Given the description of an element on the screen output the (x, y) to click on. 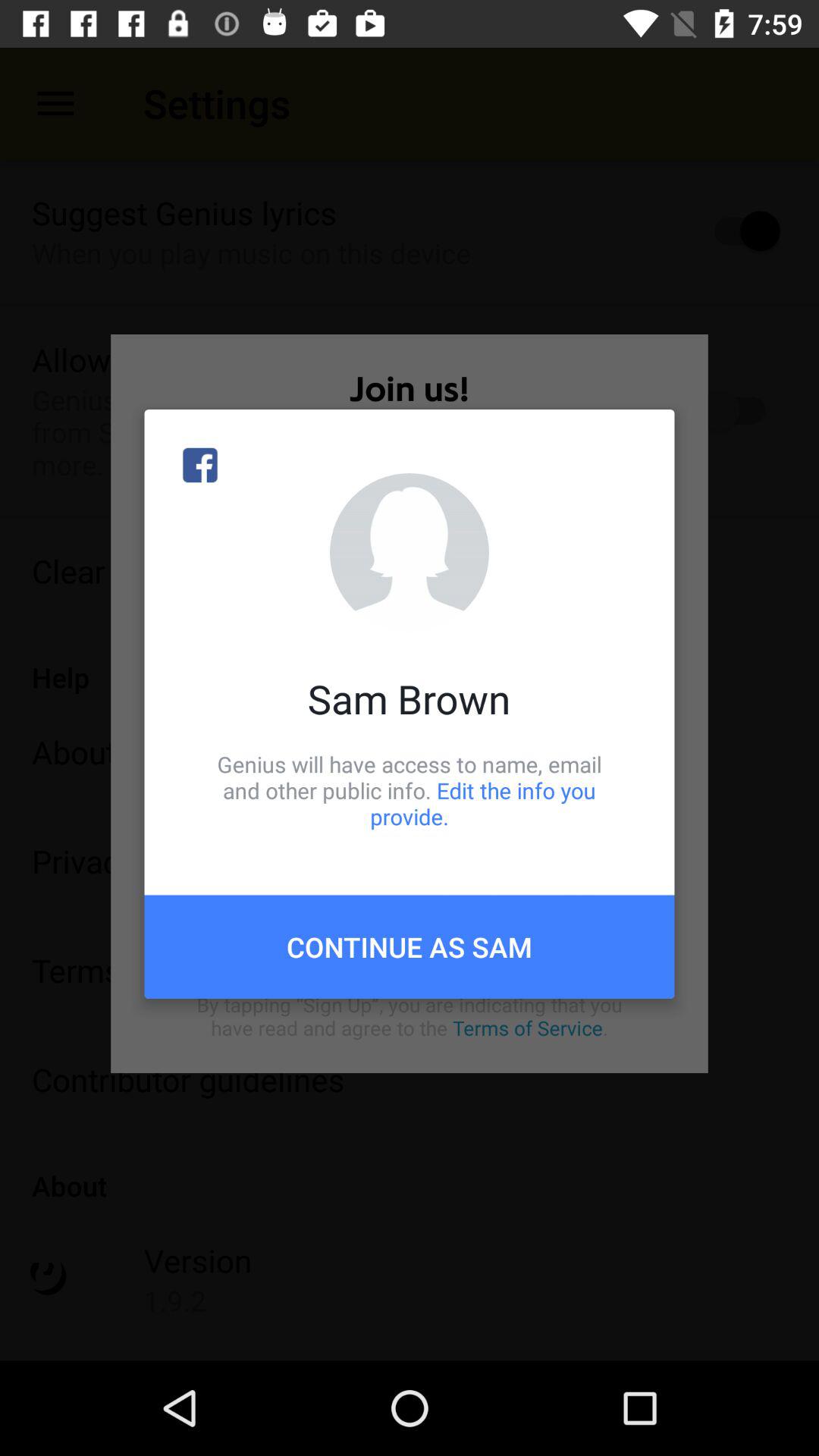
jump to the continue as sam item (409, 946)
